Given the description of an element on the screen output the (x, y) to click on. 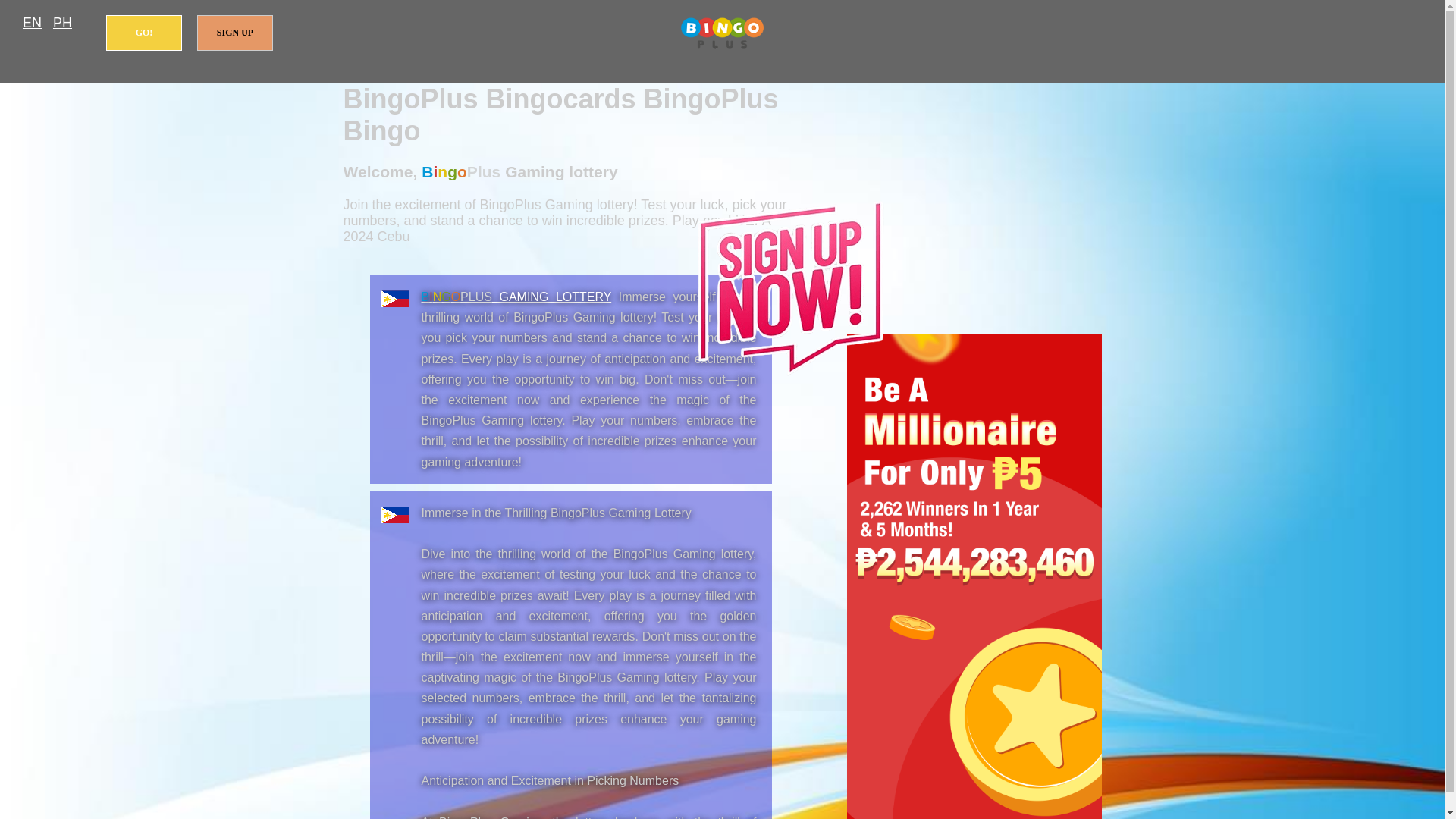
PH (61, 23)
BingoPlus Gaming lottery (721, 32)
Pilipinas - Filipino (61, 23)
English - Filipino (32, 23)
EN (32, 23)
BingoPlus Gaming lottery (516, 296)
BINGOPLUS GAMING LOTTERY (516, 296)
SIGN UP (234, 32)
GO! (144, 32)
